Given the description of an element on the screen output the (x, y) to click on. 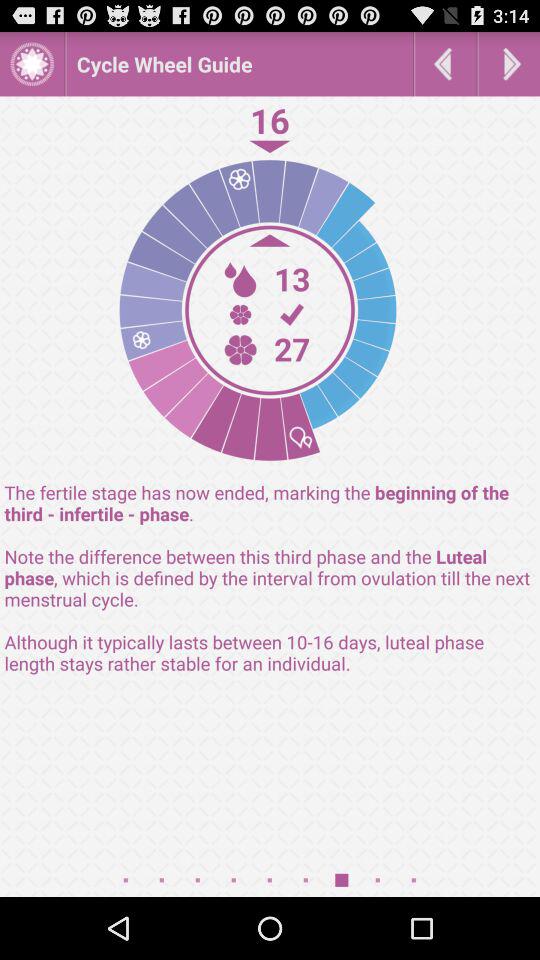
go back button (445, 63)
